Given the description of an element on the screen output the (x, y) to click on. 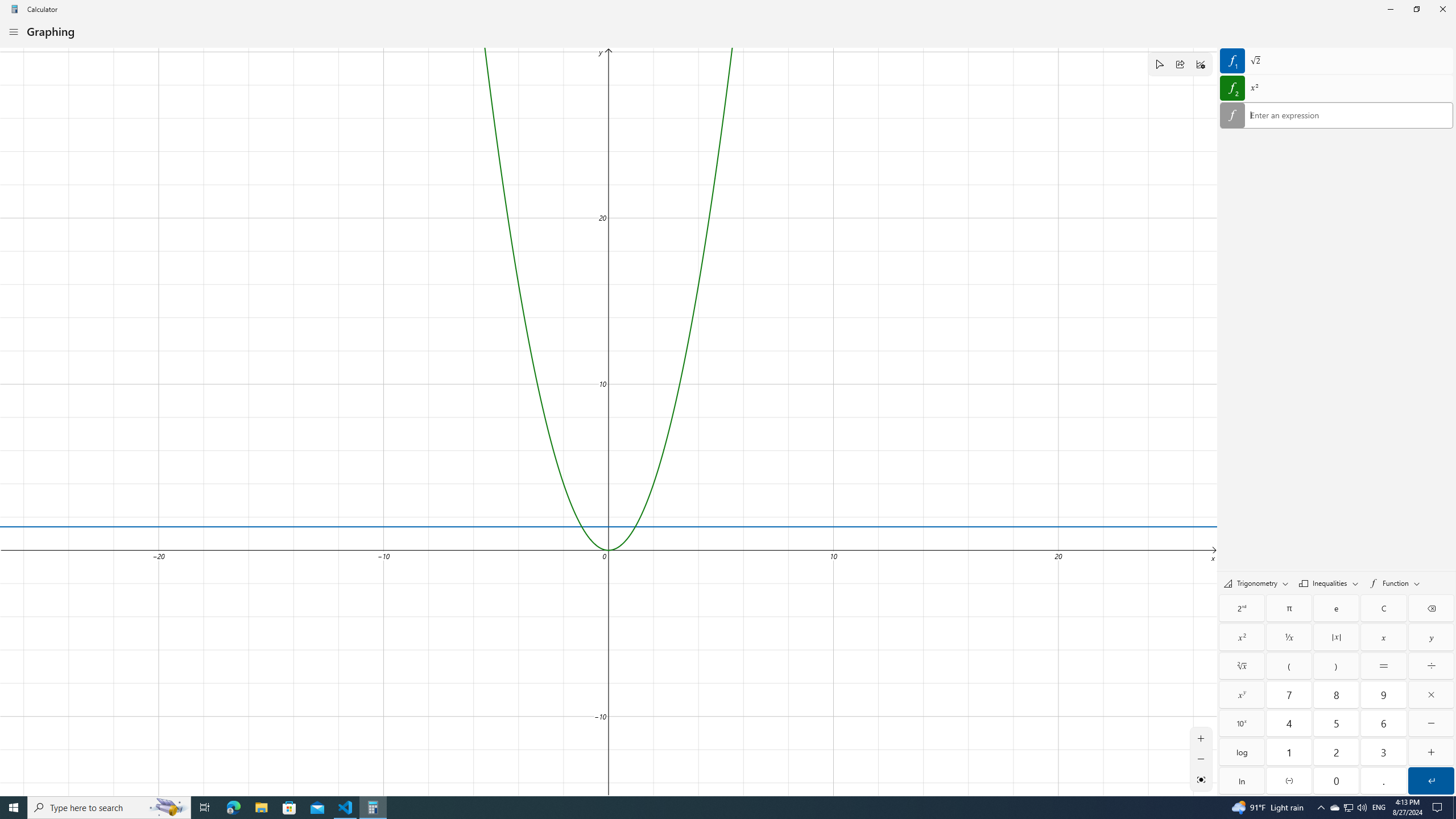
Submit (1430, 780)
Reciprocal (1288, 637)
Zoom out (1200, 759)
Multiply by (1430, 694)
Graph options (1200, 63)
Y (1430, 637)
Hide equation 2 (1232, 87)
Eight (1336, 694)
Square (1241, 637)
